Given the description of an element on the screen output the (x, y) to click on. 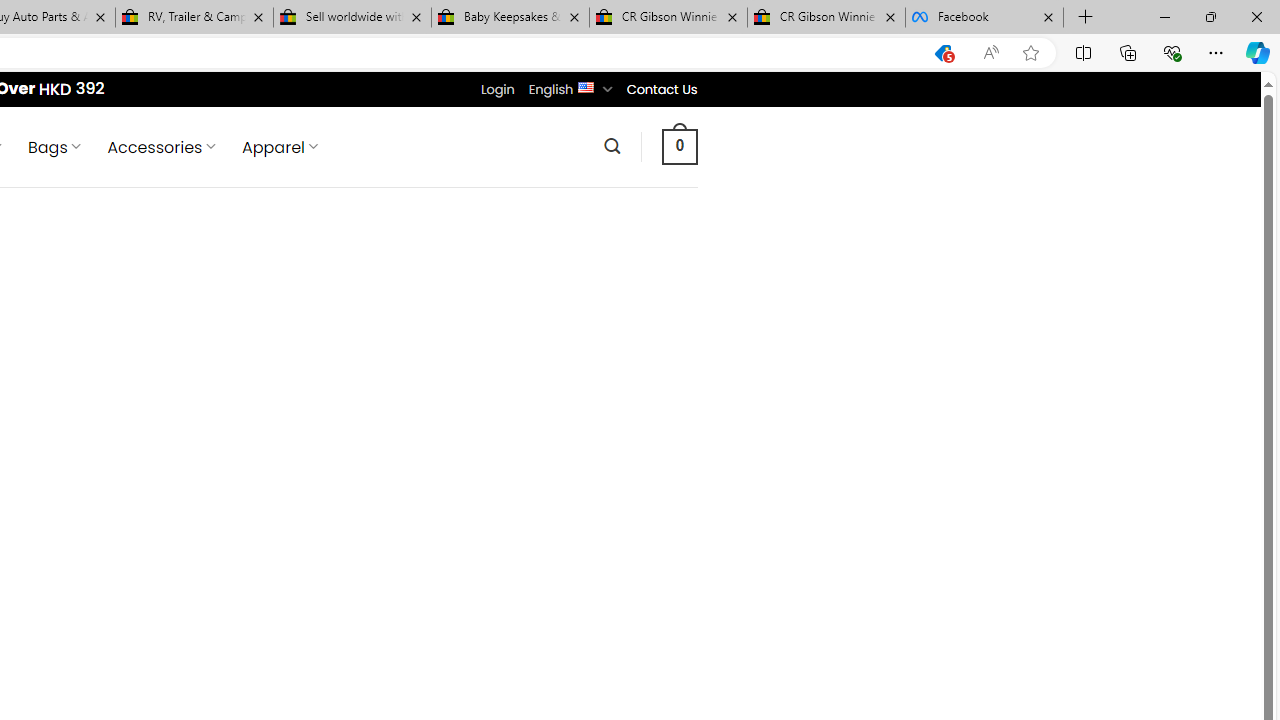
Facebook (984, 17)
 0  (679, 146)
This site has coupons! Shopping in Microsoft Edge, 5 (943, 53)
